Given the description of an element on the screen output the (x, y) to click on. 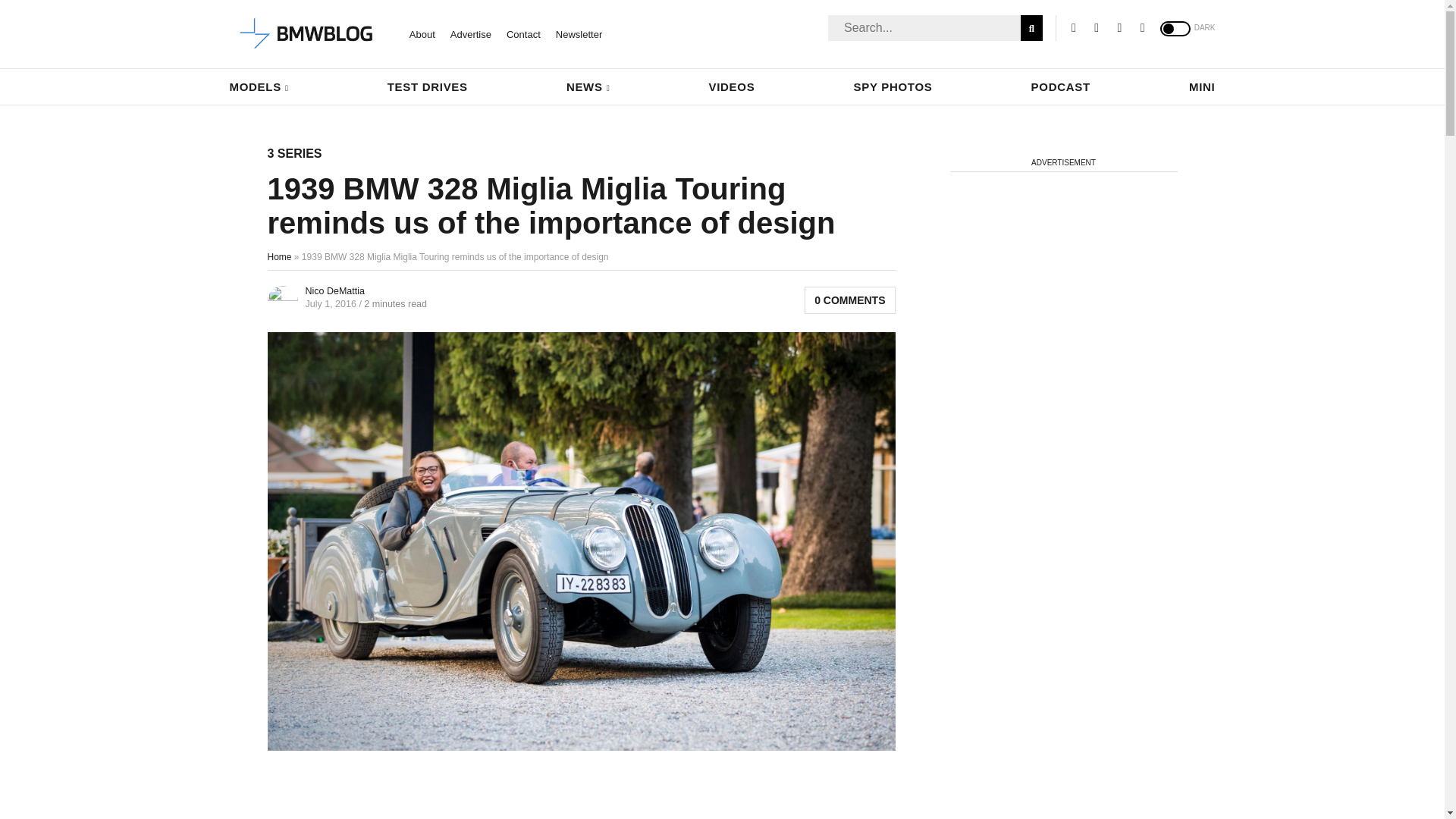
Nico DeMattia (334, 290)
BMW BLOG (306, 34)
Newsletter (579, 34)
About (422, 34)
MODELS (258, 86)
Contact (523, 34)
Advertise (470, 34)
